Given the description of an element on the screen output the (x, y) to click on. 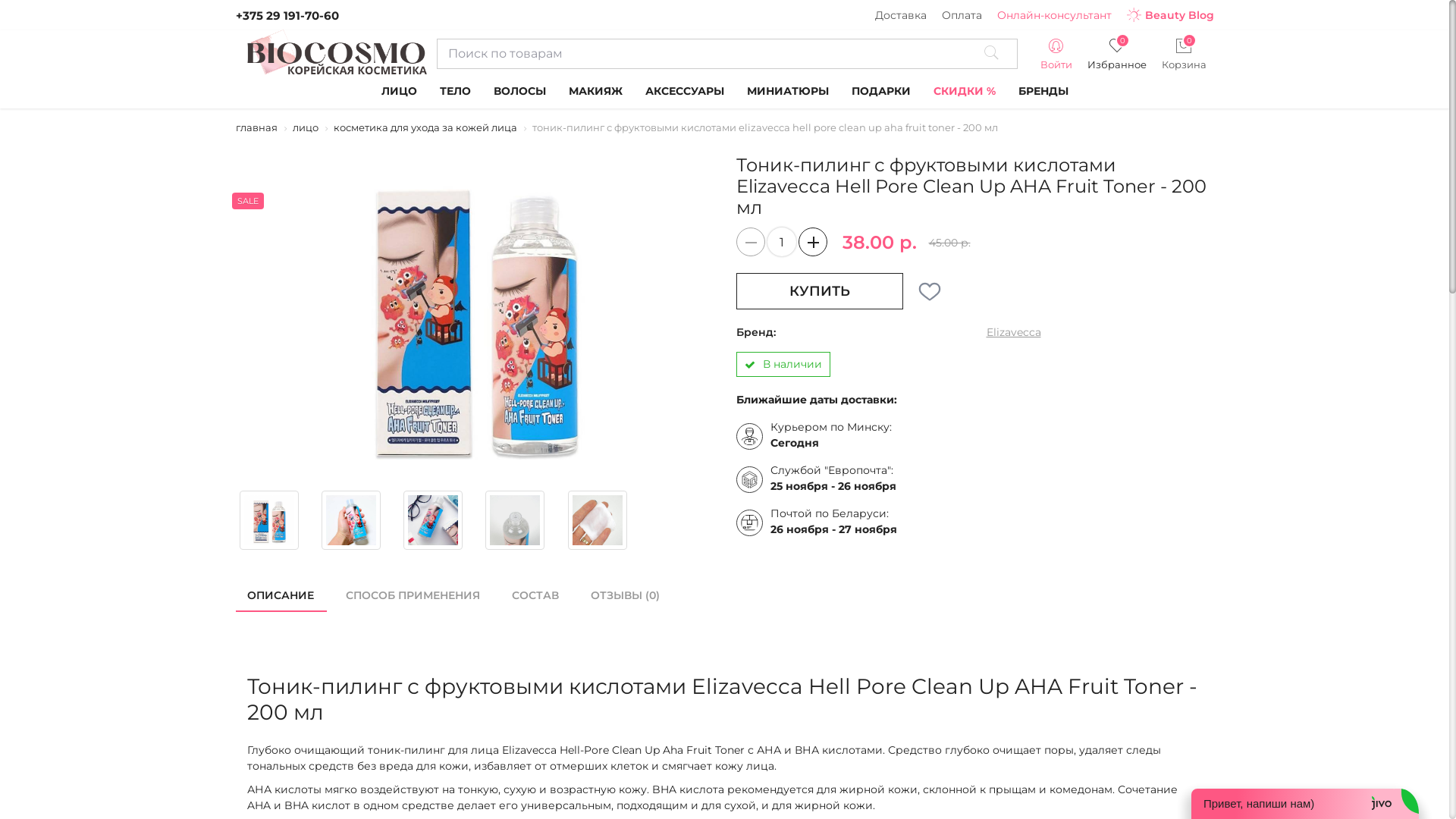
up Element type: text (811, 241)
+375 29 191-70-60 Element type: text (286, 15)
down Element type: text (749, 241)
Elizavecca Element type: text (1012, 331)
Beauty Blog Element type: text (1170, 15)
